Given the description of an element on the screen output the (x, y) to click on. 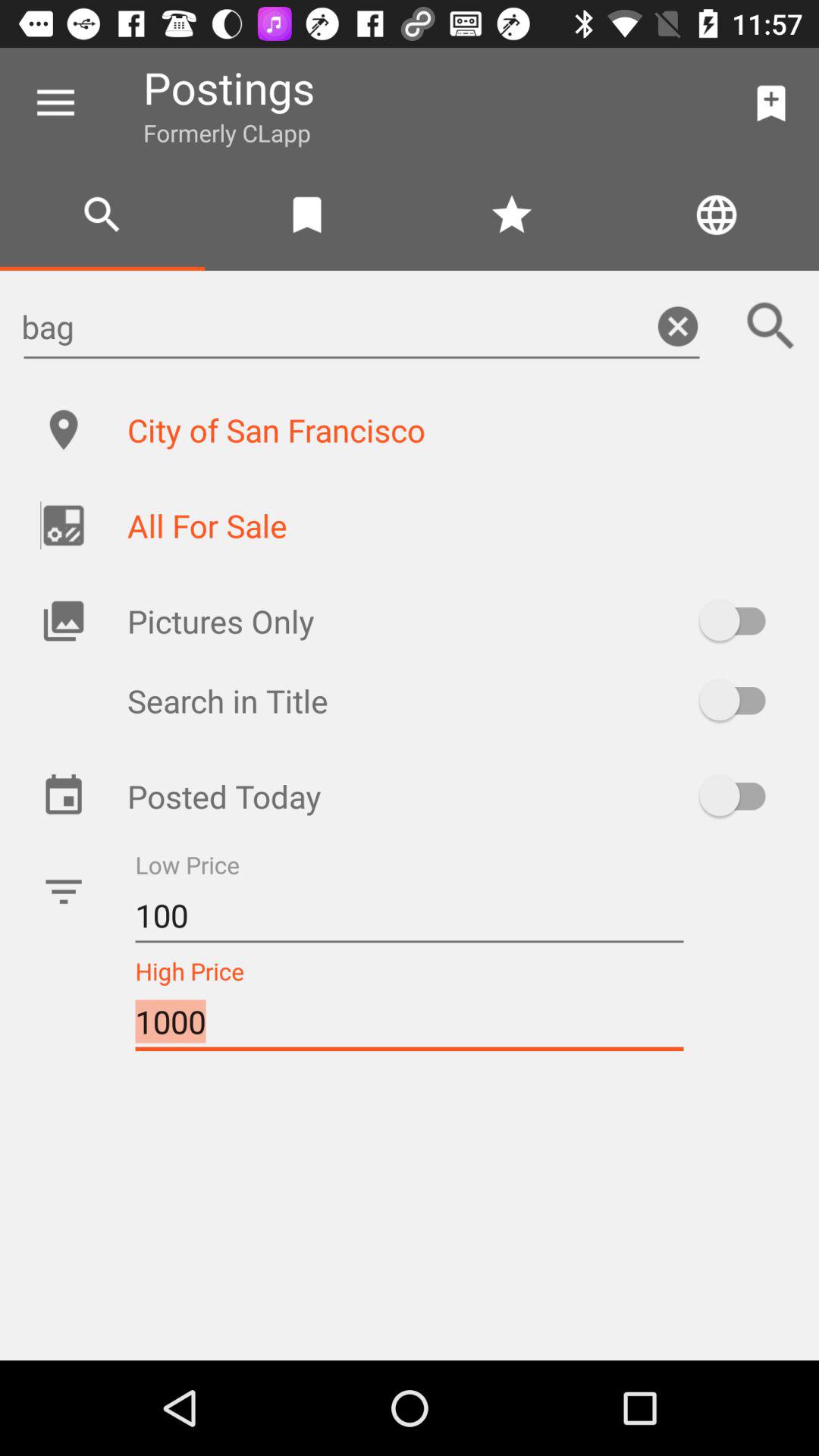
click the icon below bag icon (457, 429)
